Given the description of an element on the screen output the (x, y) to click on. 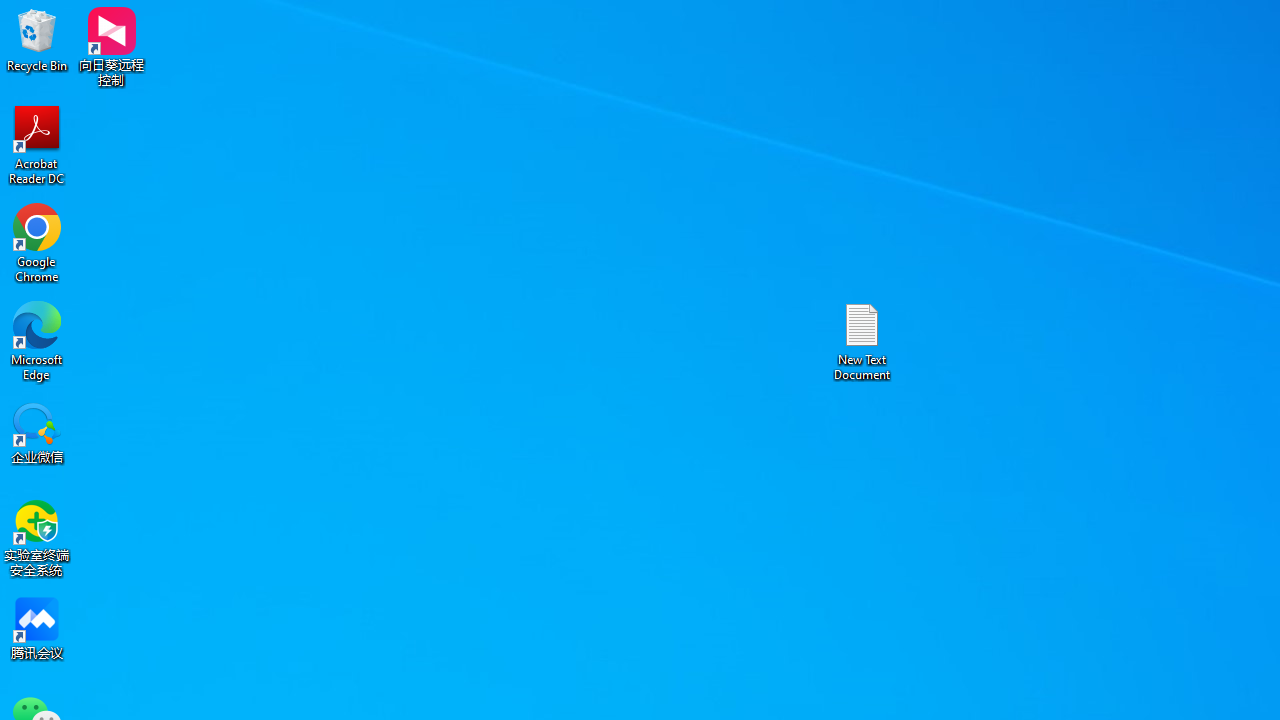
Microsoft Edge (37, 340)
Recycle Bin (37, 39)
Acrobat Reader DC (37, 144)
New Text Document (861, 340)
Google Chrome (37, 242)
